Given the description of an element on the screen output the (x, y) to click on. 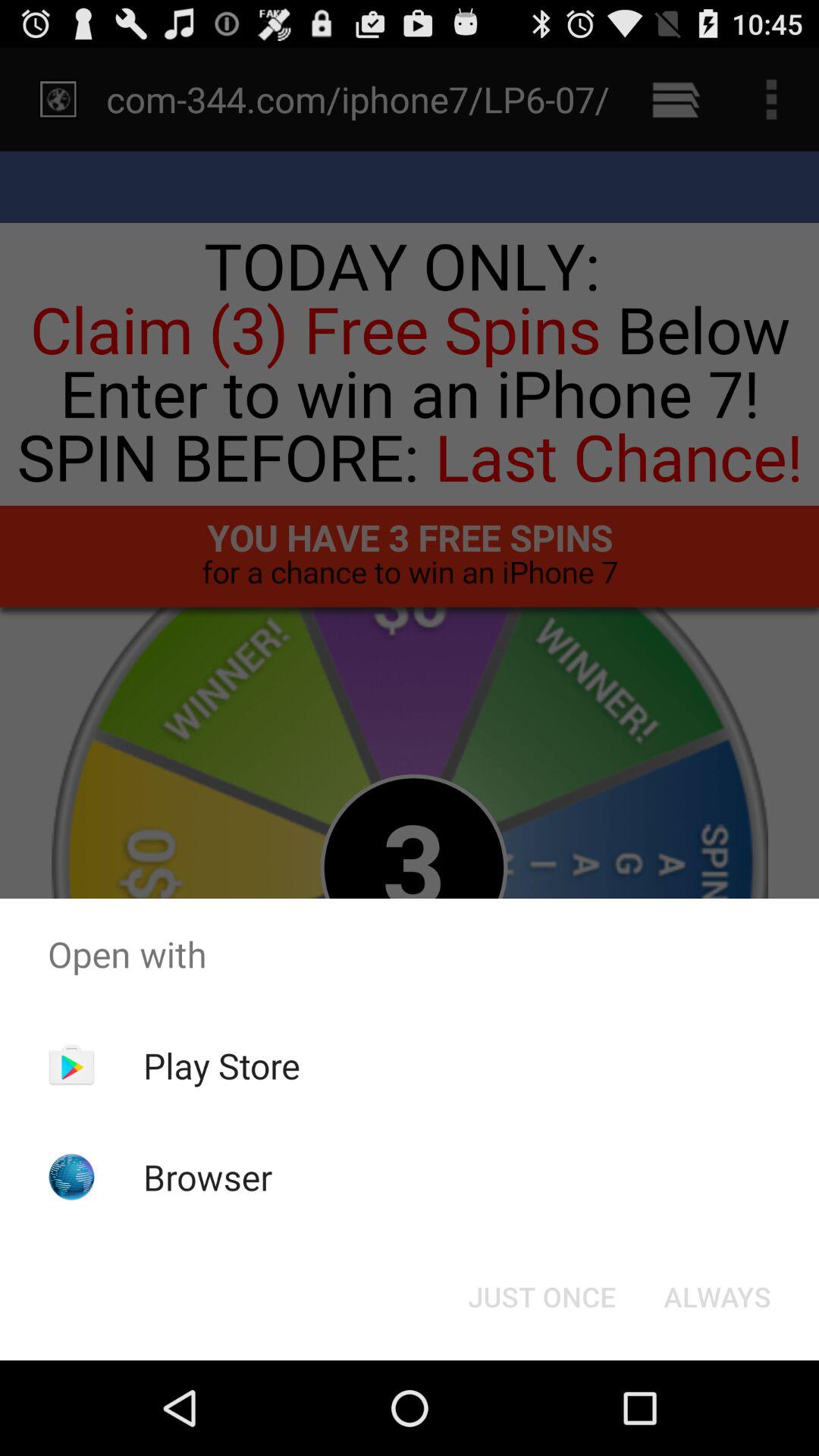
turn off icon below open with item (541, 1296)
